Given the description of an element on the screen output the (x, y) to click on. 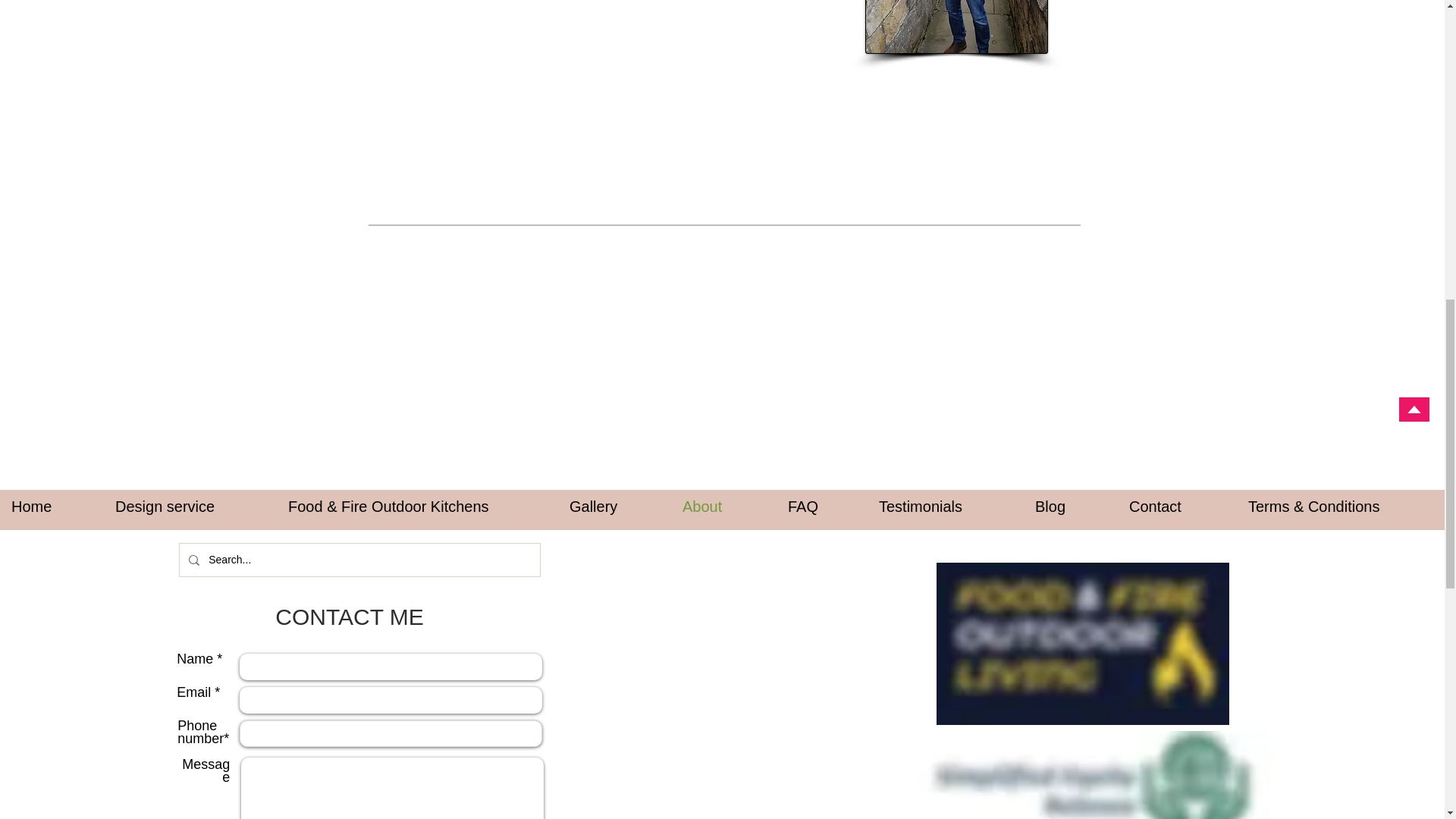
Design service (189, 506)
Testimonials (945, 506)
Home (51, 506)
Blog (1070, 506)
Gallery (614, 506)
Contact (1177, 506)
About (723, 506)
FAQ (821, 506)
